Given the description of an element on the screen output the (x, y) to click on. 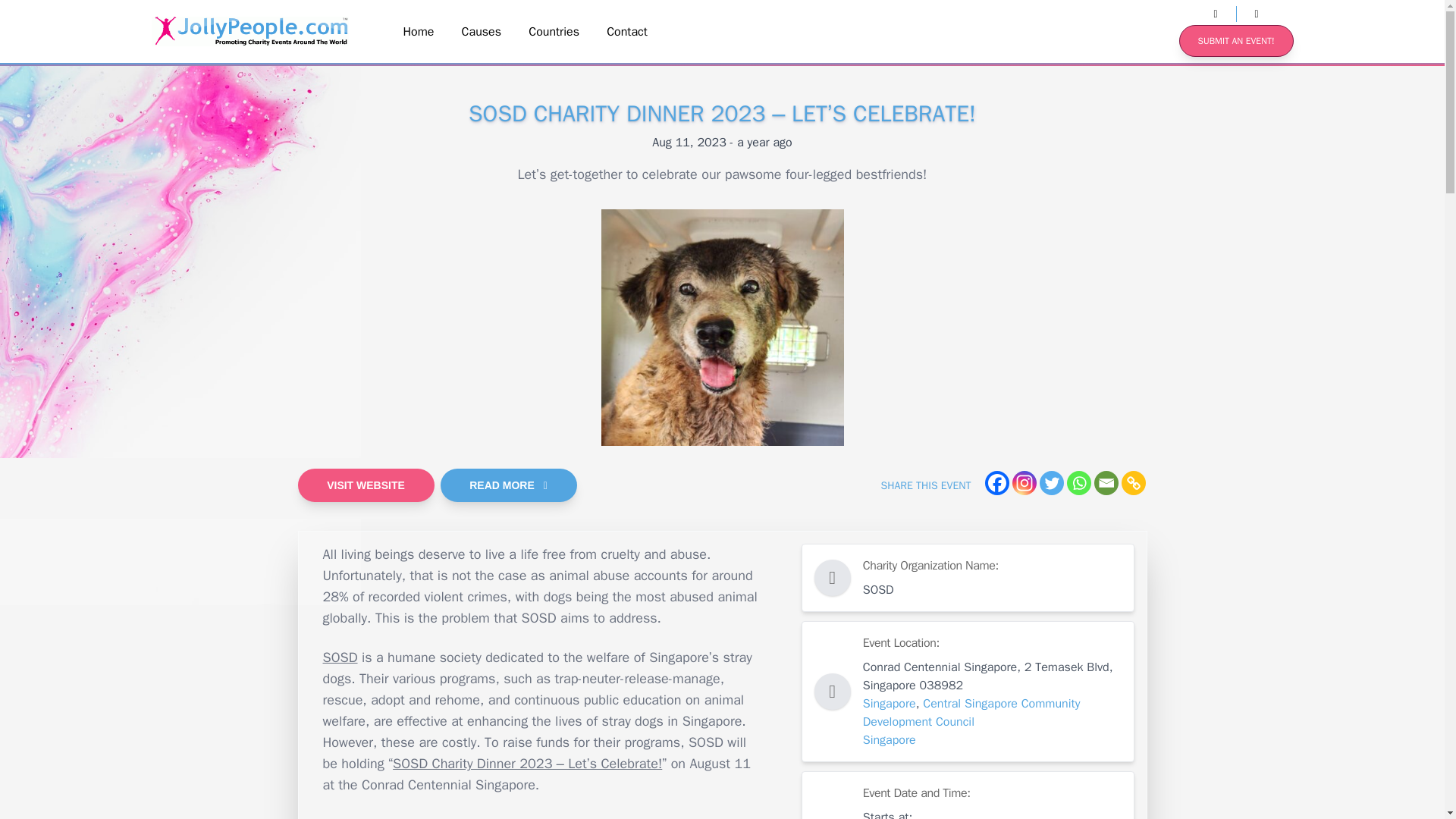
Instagram (1023, 482)
Central Singapore Community Development Council (971, 712)
Countries (553, 31)
Home (418, 31)
Twitter (1050, 482)
Whatsapp (1077, 482)
Email (1105, 482)
Causes (481, 31)
SOSD (340, 657)
SUBMIT AN EVENT! (1236, 40)
READ MORE (507, 485)
Singapore (889, 739)
Aug 11, 2023 6:30pm China Standard Time (722, 142)
Copy Link (1132, 482)
VISIT WEBSITE (365, 485)
